Given the description of an element on the screen output the (x, y) to click on. 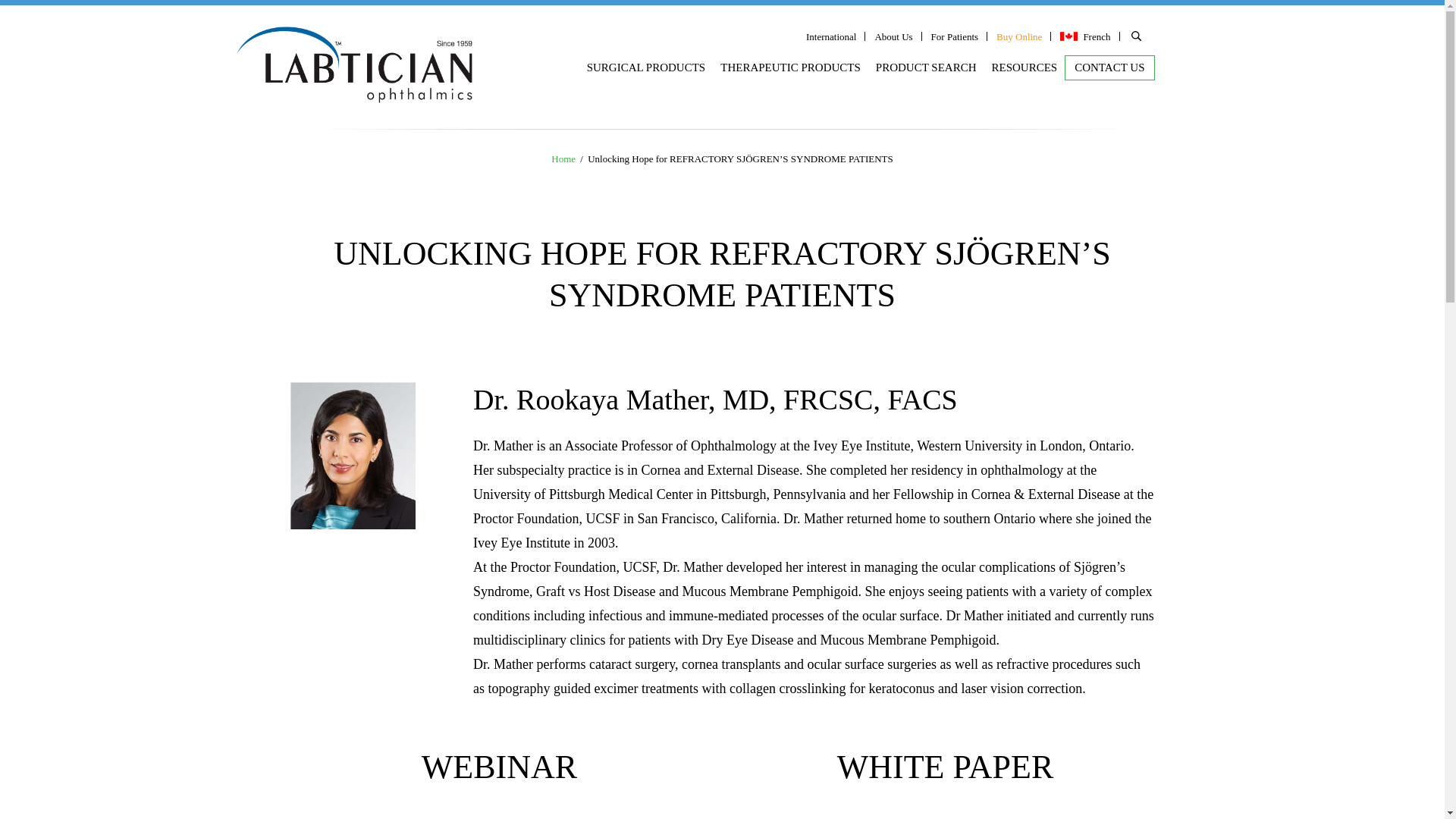
For Patients (954, 38)
YouTube video player (498, 814)
CONTACT US (1109, 67)
Search (1212, 38)
International (831, 38)
RESOURCES (1024, 67)
Home (563, 158)
Labtician Ophthalmics (351, 64)
Labtician Ophthalmics (351, 91)
PRODUCT SEARCH (925, 67)
